Given the description of an element on the screen output the (x, y) to click on. 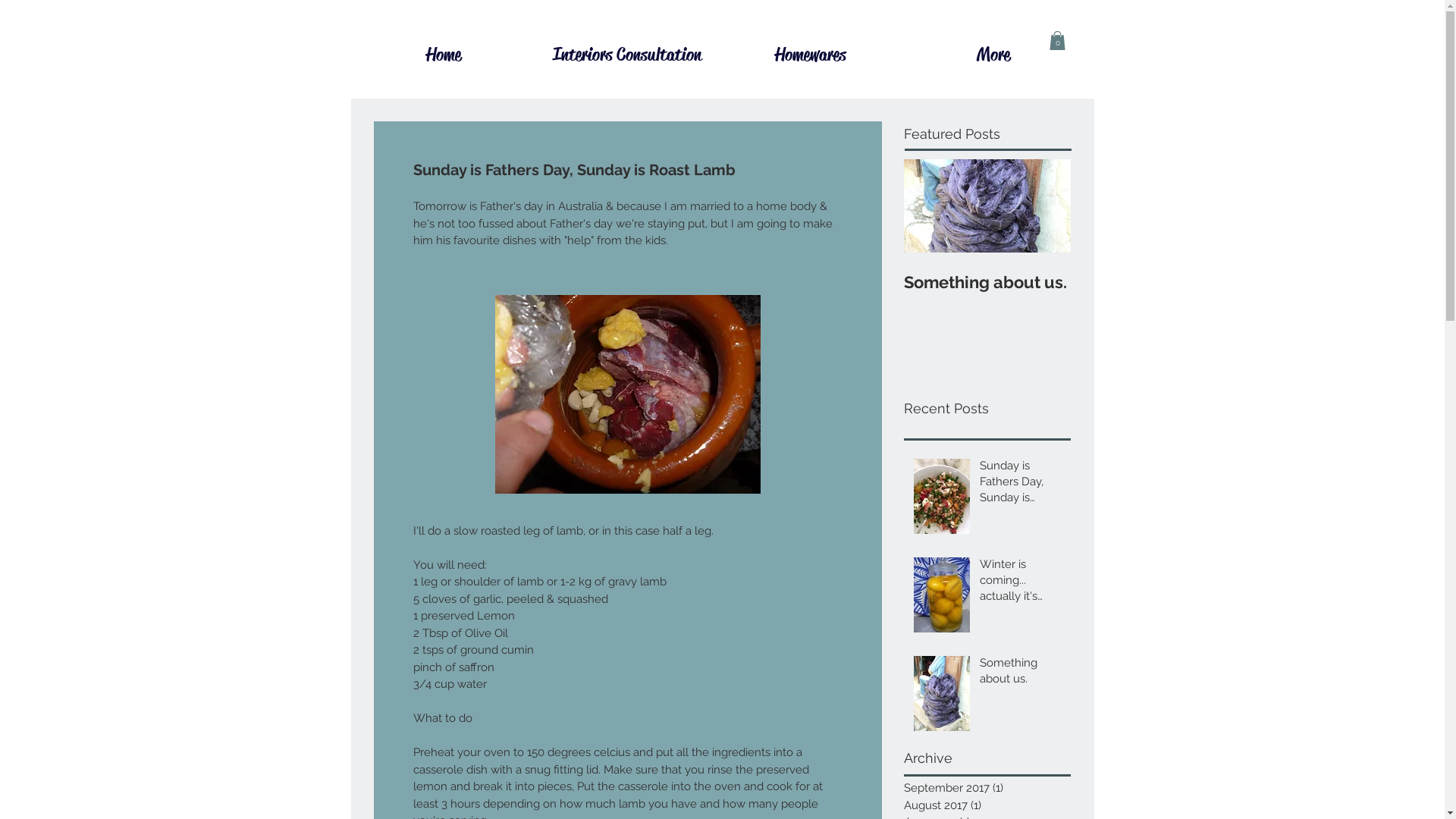
Sunday is Fathers Day, Sunday is Roast Lamb Element type: text (1020, 484)
Something about us. Element type: text (986, 281)
August 2017 (1) Element type: text (983, 805)
Winter is coming... actually it's here. Element type: text (1020, 583)
0 Element type: text (1057, 40)
Homewares Element type: text (810, 54)
Interiors Consultation Element type: text (626, 54)
Something about us. Element type: text (1020, 674)
Home Element type: text (443, 54)
September 2017 (1) Element type: text (983, 788)
